Given the description of an element on the screen output the (x, y) to click on. 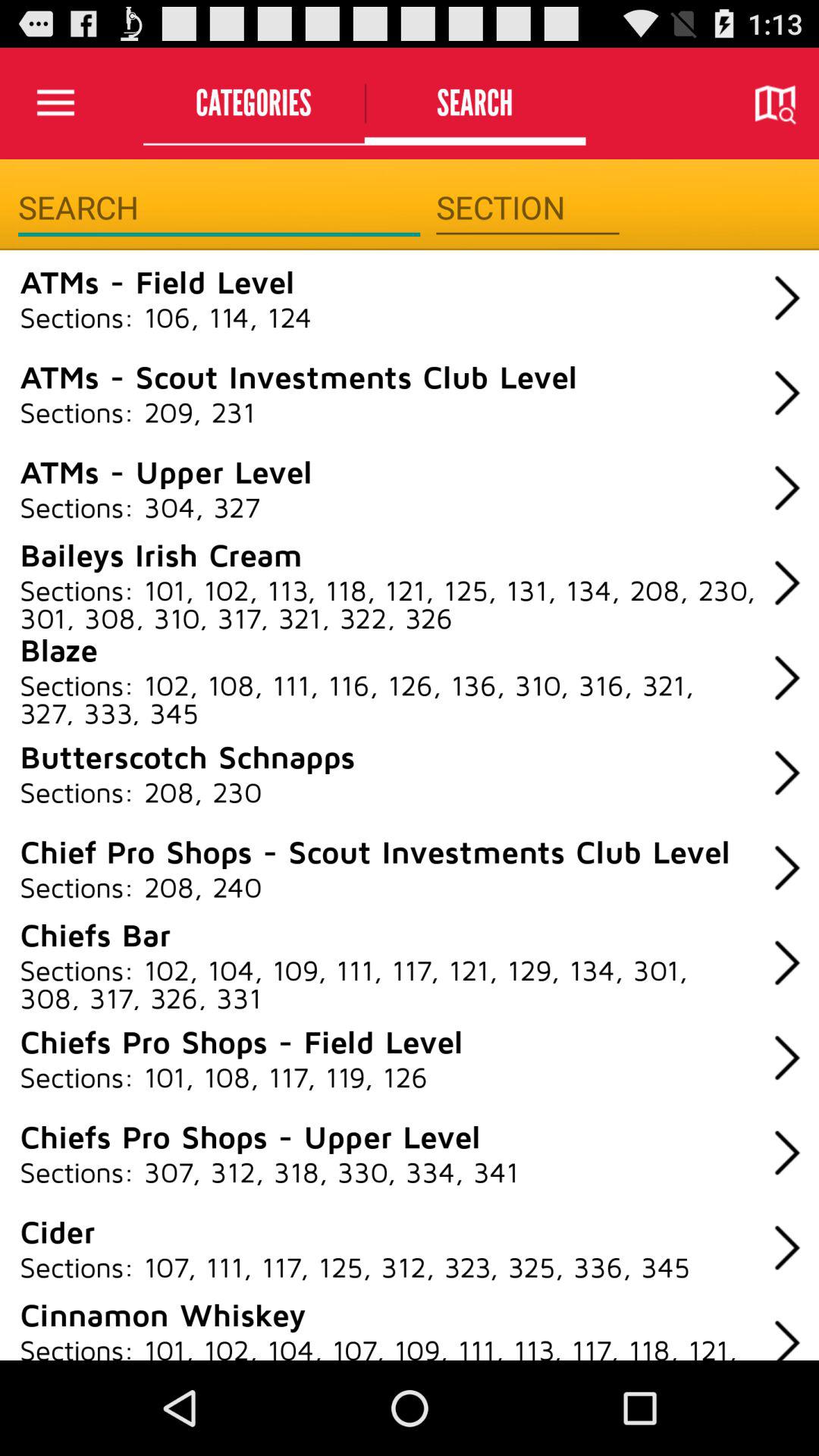
swipe until blaze (58, 649)
